Given the description of an element on the screen output the (x, y) to click on. 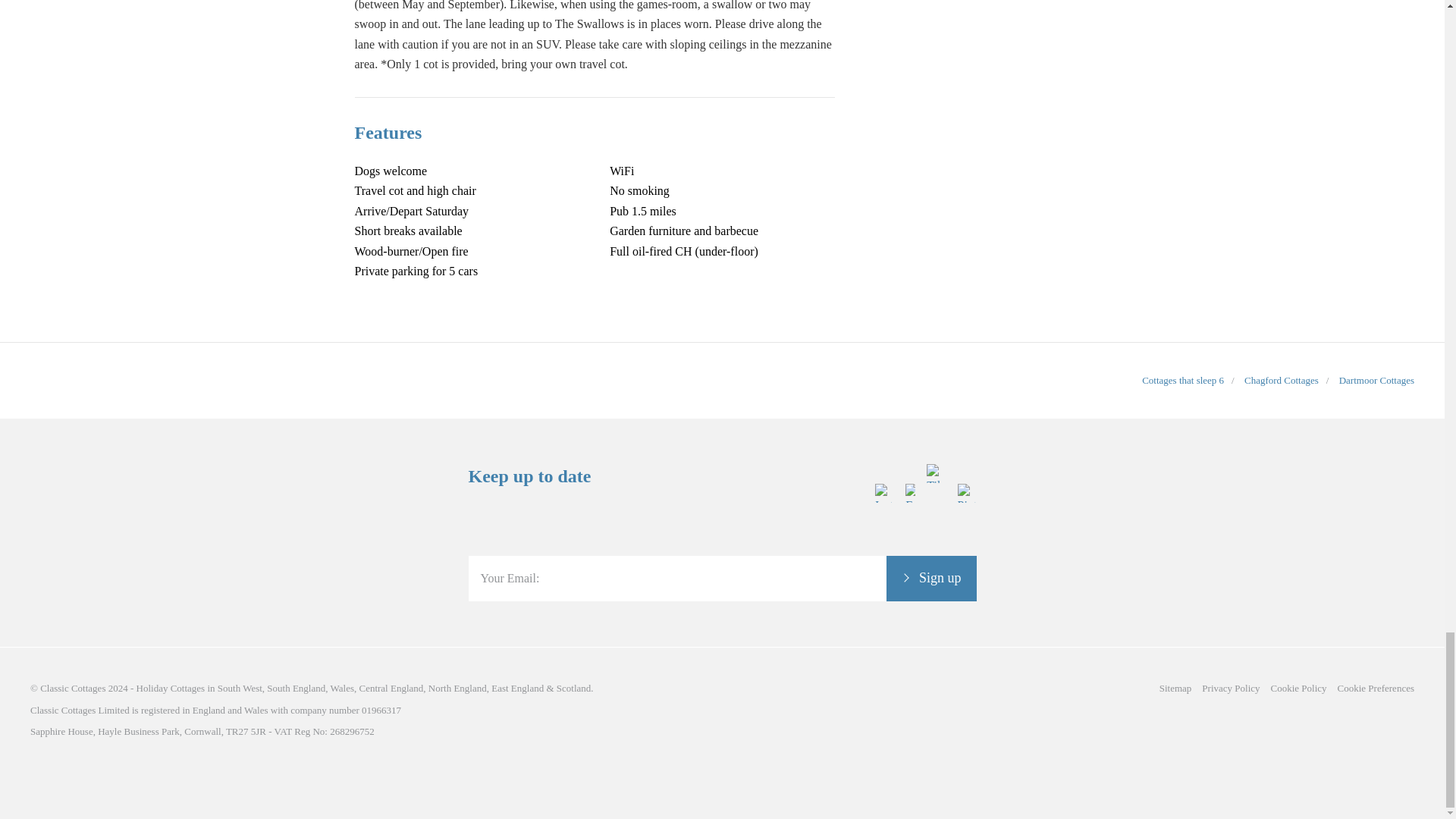
Follow Classic Cottages Pinterest (965, 545)
Follow Classic Cottages Tik Tok (935, 545)
Follow Classic Cottages Instagram (884, 545)
